Given the description of an element on the screen output the (x, y) to click on. 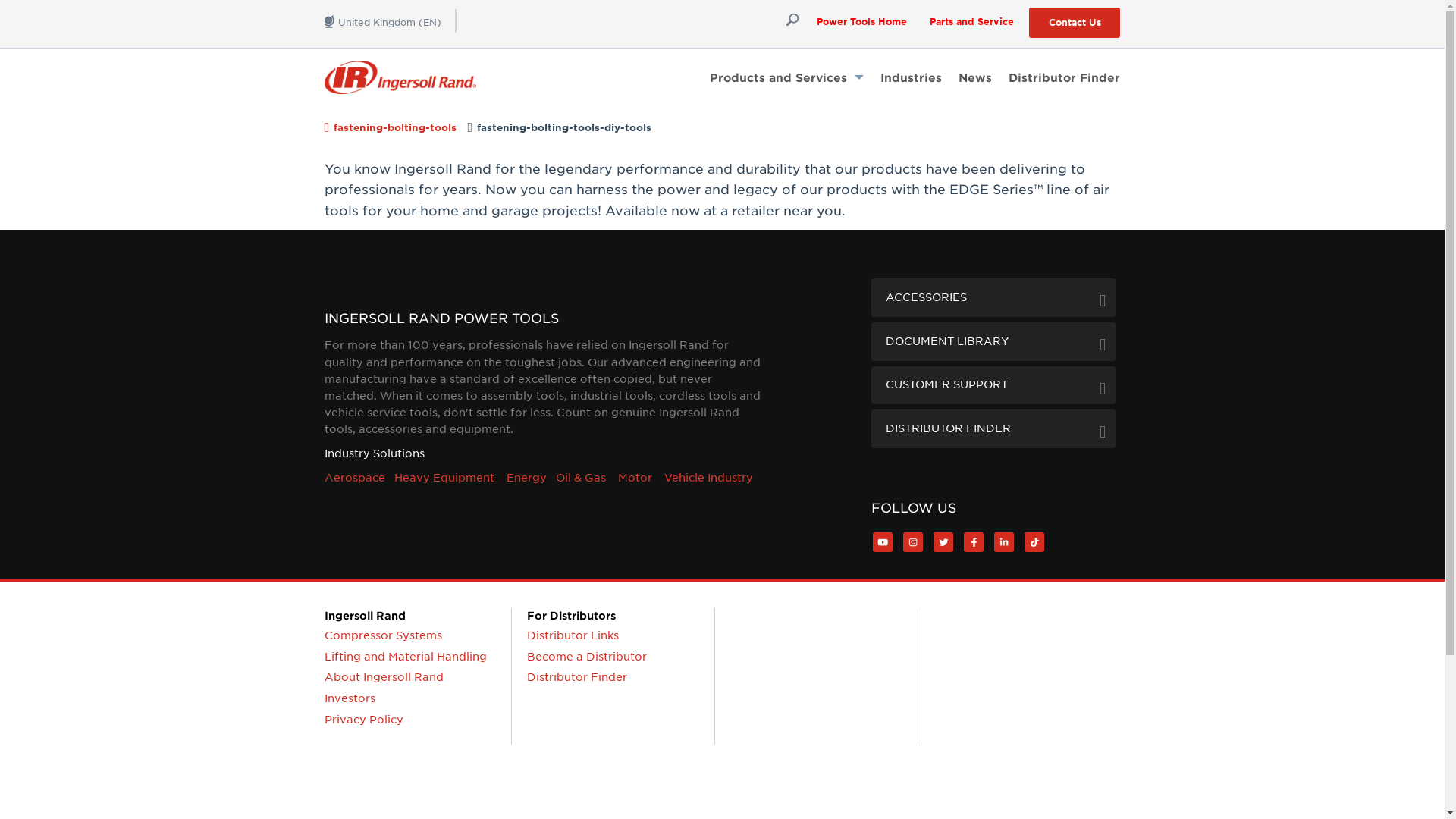
RegionlForm (391, 20)
fastening-bolting-tools (395, 127)
